Given the description of an element on the screen output the (x, y) to click on. 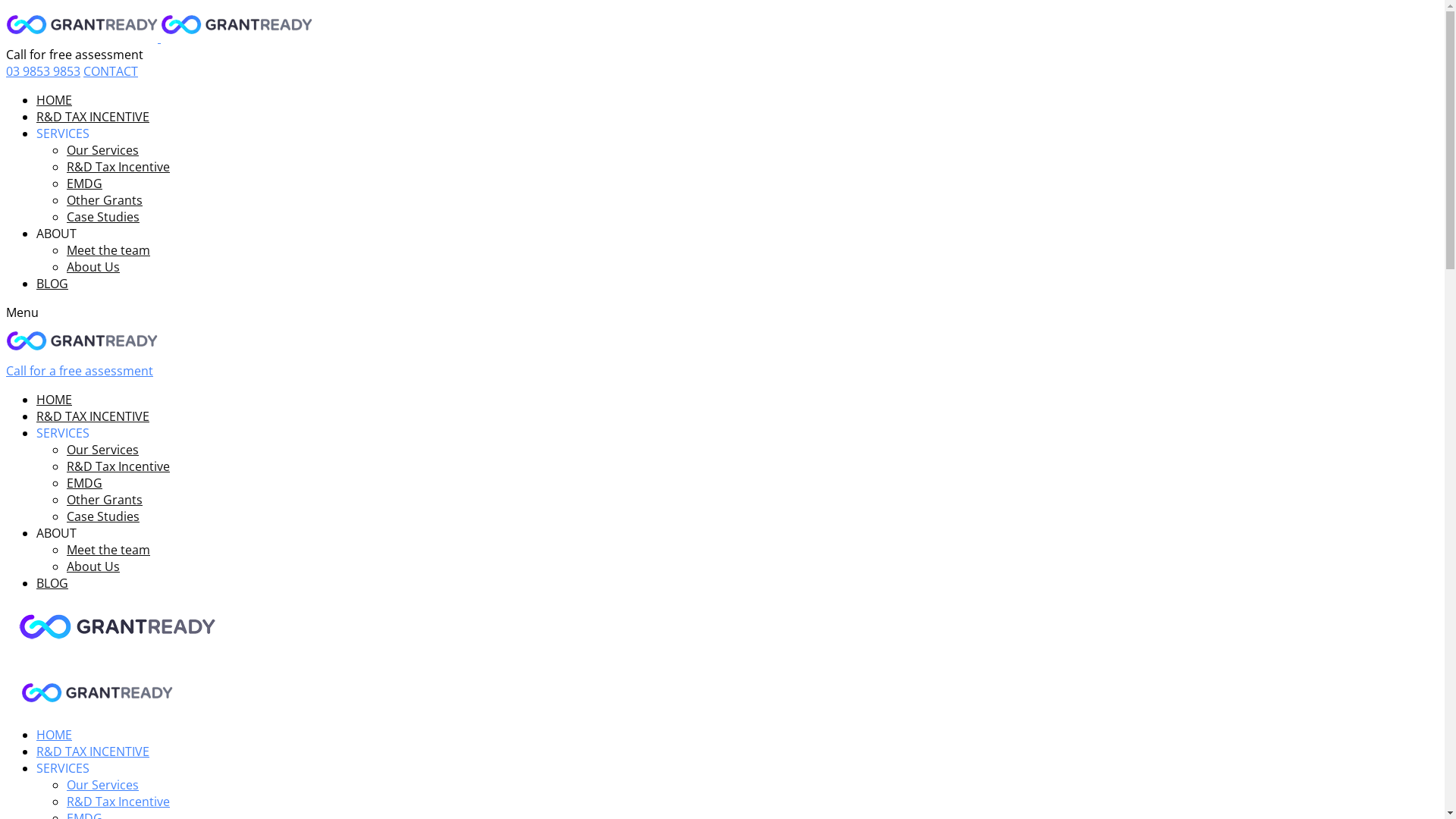
HOME Element type: text (54, 99)
About Us Element type: text (92, 566)
EMDG Element type: text (84, 482)
SERVICES Element type: text (62, 767)
Meet the team Element type: text (108, 249)
R&D Tax Incentive Element type: text (117, 166)
BLOG Element type: text (52, 283)
SERVICES Element type: text (62, 432)
Other Grants Element type: text (104, 199)
03 9853 9853 Element type: text (43, 70)
R&D TAX INCENTIVE Element type: text (92, 415)
Our Services Element type: text (102, 449)
Case Studies Element type: text (102, 216)
R&D TAX INCENTIVE Element type: text (92, 116)
HOME Element type: text (54, 734)
Other Grants Element type: text (104, 499)
HOME Element type: text (54, 399)
About Us Element type: text (92, 266)
BLOG Element type: text (52, 582)
Our Services Element type: text (102, 784)
R&D Tax Incentive Element type: text (117, 801)
Our Services Element type: text (102, 149)
R&D Tax Incentive Element type: text (117, 466)
R&D TAX INCENTIVE Element type: text (92, 751)
ABOUT Element type: text (56, 233)
SERVICES Element type: text (62, 133)
CONTACT Element type: text (110, 70)
Case Studies Element type: text (102, 516)
Call for a free assessment Element type: text (79, 370)
EMDG Element type: text (84, 183)
ABOUT Element type: text (56, 532)
Meet the team Element type: text (108, 549)
